Given the description of an element on the screen output the (x, y) to click on. 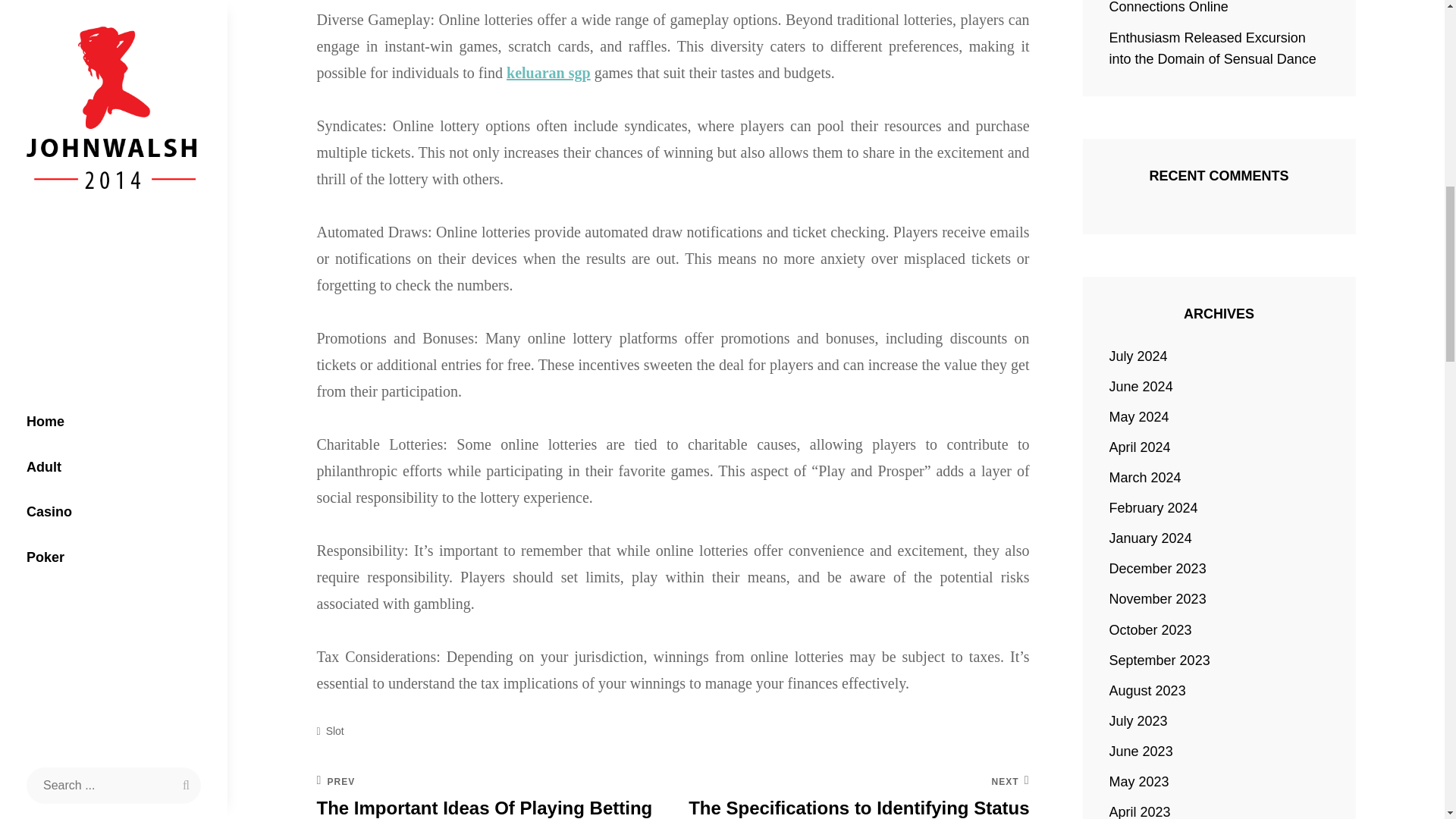
October 2023 (1150, 629)
June 2024 (1141, 386)
December 2023 (1158, 568)
April 2023 (1139, 810)
November 2023 (1158, 598)
July 2023 (1138, 721)
January 2024 (1150, 537)
Digital Intimacy Building Lustful Connections Online (1203, 7)
August 2023 (1147, 690)
September 2023 (1159, 660)
April 2024 (1139, 446)
Slot (334, 731)
June 2023 (1141, 751)
May 2023 (1139, 781)
keluaran sgp (548, 72)
